Given the description of an element on the screen output the (x, y) to click on. 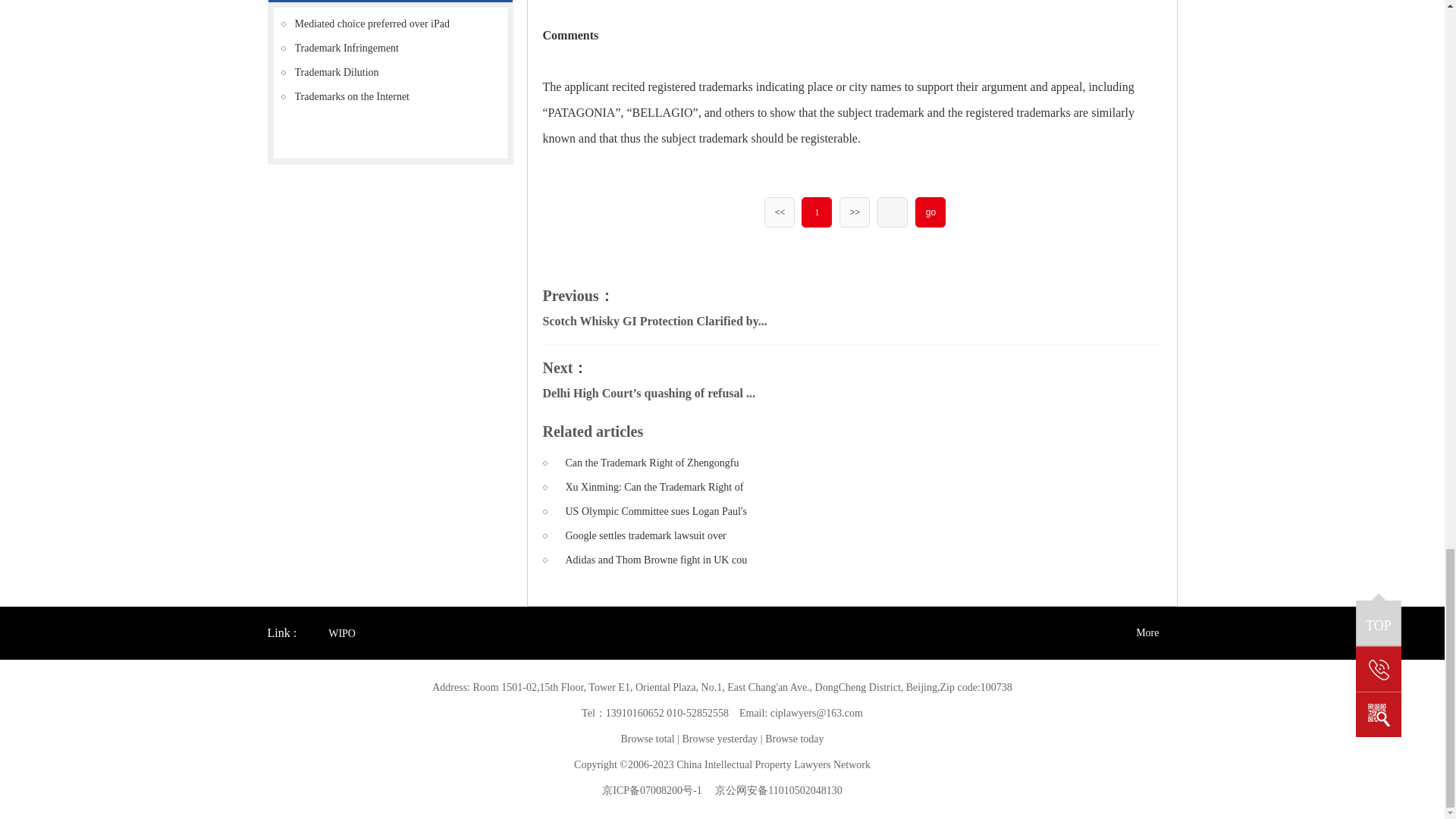
go (929, 212)
